Given the description of an element on the screen output the (x, y) to click on. 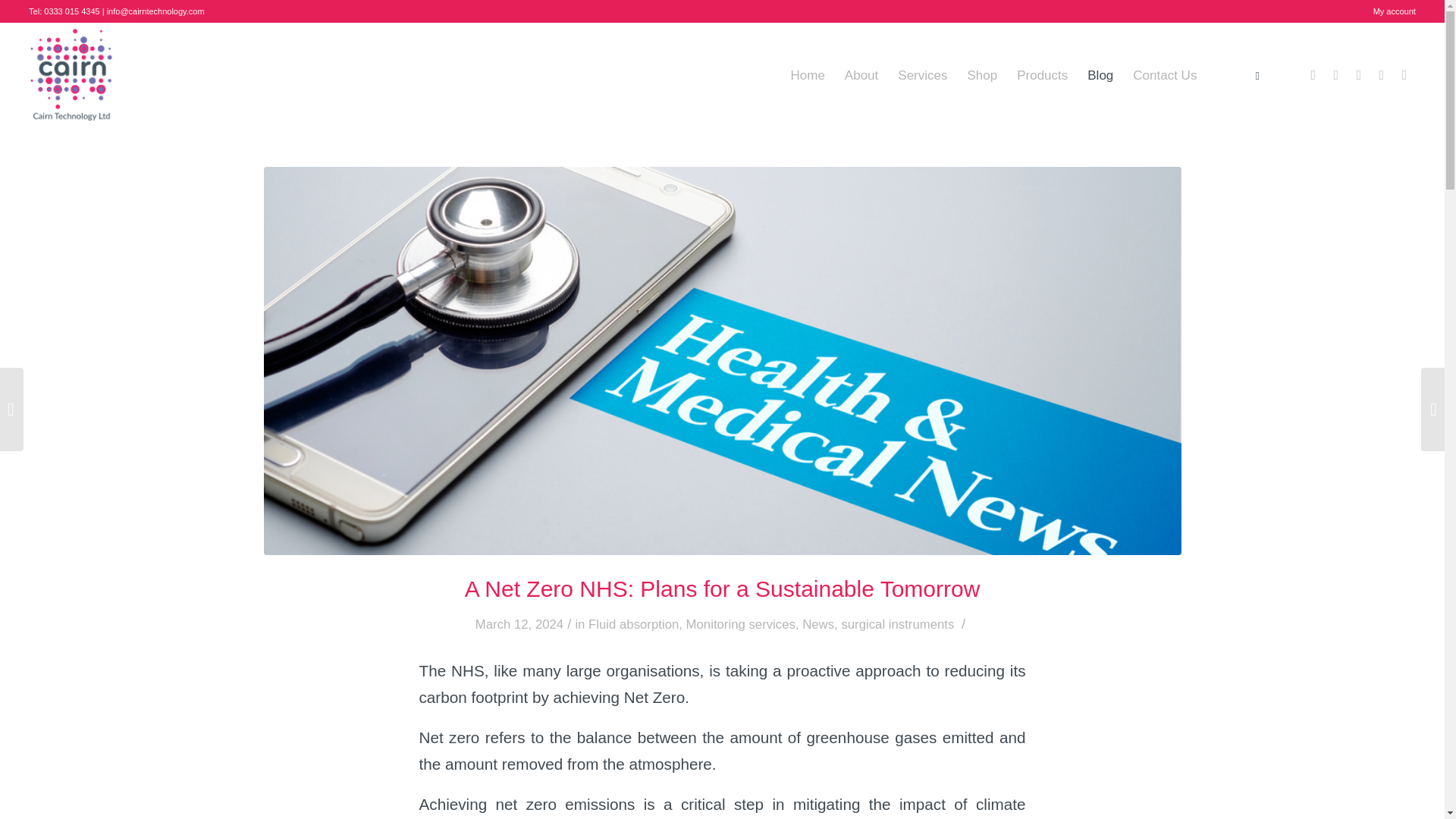
Facebook (1312, 74)
Instagram (1381, 74)
Youtube (1404, 74)
LinkedIn (1359, 74)
Twitter (1336, 74)
My account (1394, 11)
